Given the description of an element on the screen output the (x, y) to click on. 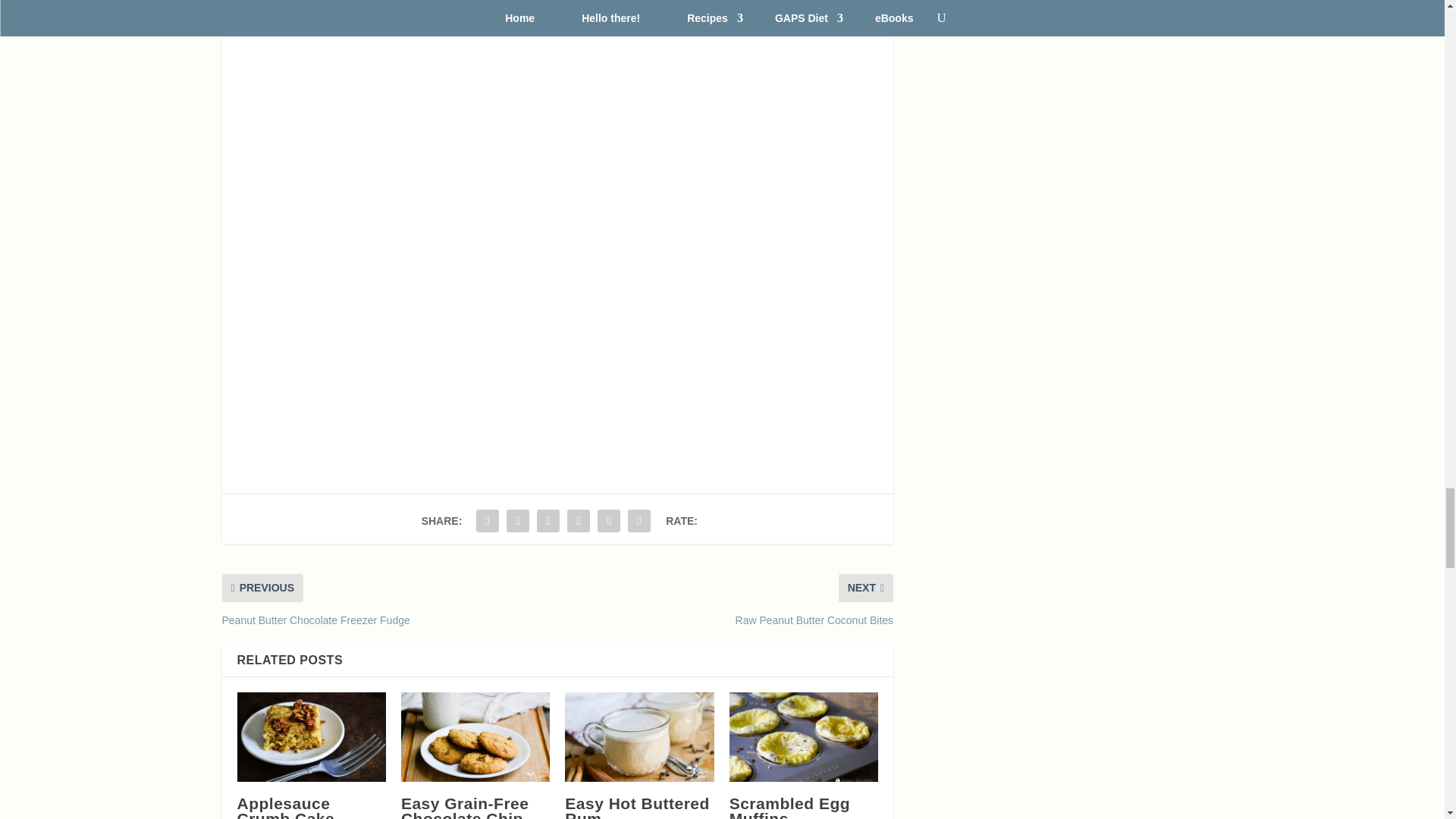
Share "Lacto-Fermented Cinnamon Apple Chutney" via Tumblr (547, 521)
Scrambled Egg Muffins (803, 737)
Easy Hot Buttered Rum (638, 737)
Share "Lacto-Fermented Cinnamon Apple Chutney" via Twitter (517, 521)
Easy Grain-Free Chocolate Chip Cookies (475, 737)
Share "Lacto-Fermented Cinnamon Apple Chutney" via Print (638, 521)
Applesauce Crumb Cake (310, 737)
Share "Lacto-Fermented Cinnamon Apple Chutney" via Pinterest (578, 521)
Share "Lacto-Fermented Cinnamon Apple Chutney" via Facebook (486, 521)
Share "Lacto-Fermented Cinnamon Apple Chutney" via Email (609, 521)
